Given the description of an element on the screen output the (x, y) to click on. 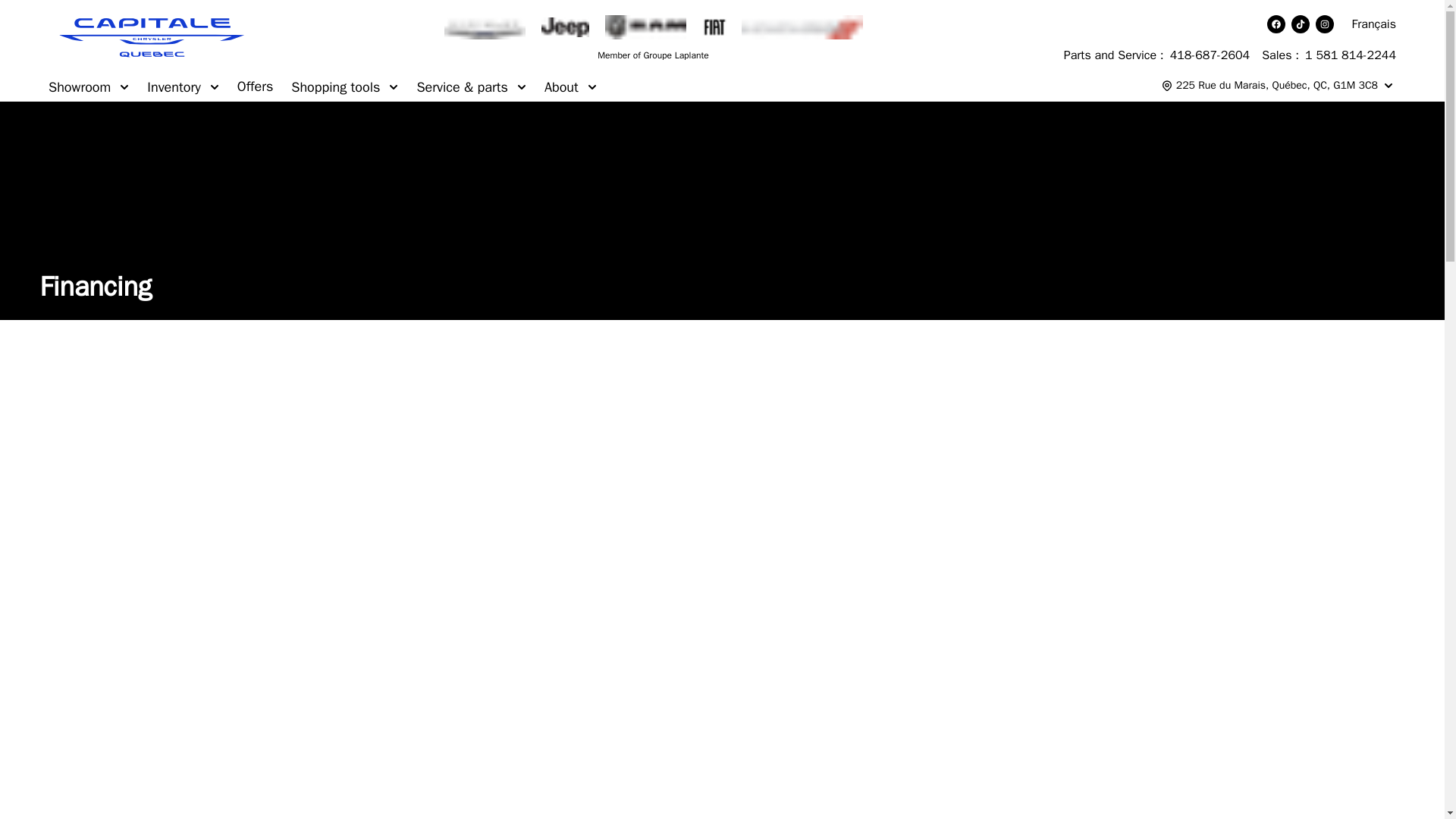
Member of Groupe Laplante (651, 55)
